Given the description of an element on the screen output the (x, y) to click on. 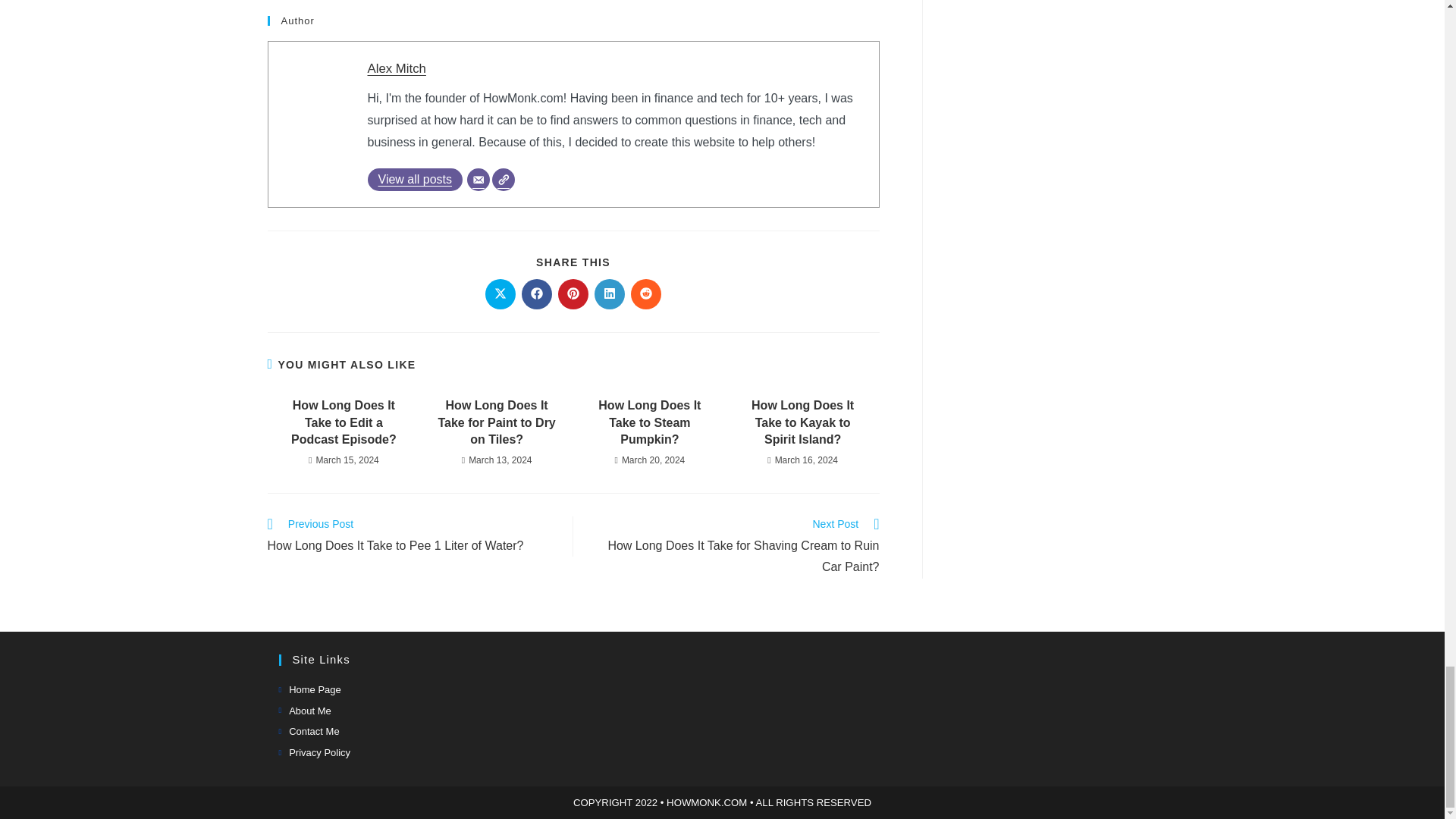
Alex Mitch (395, 68)
View all posts (414, 179)
